Given the description of an element on the screen output the (x, y) to click on. 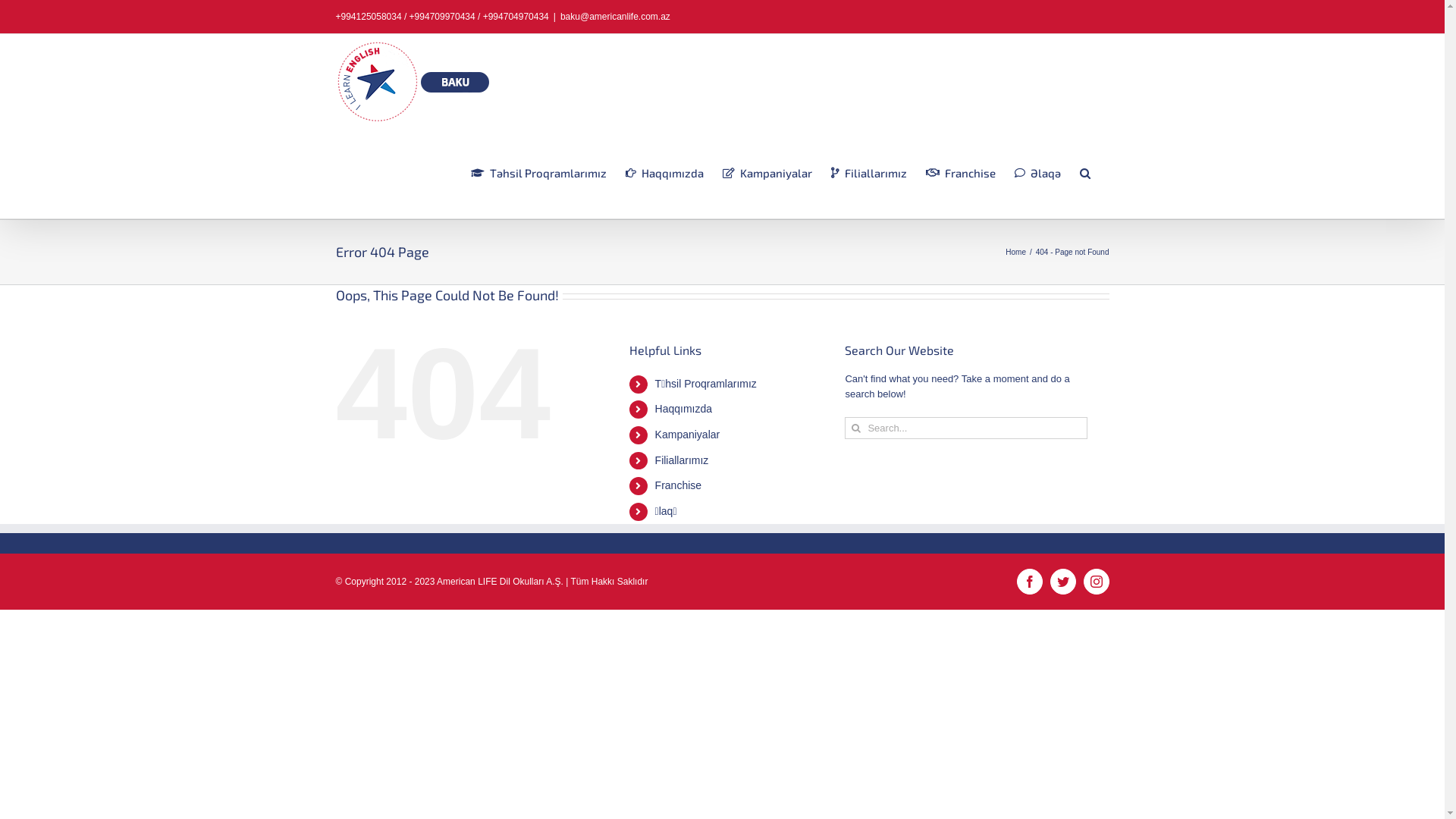
Kampaniyalar Element type: text (687, 434)
Instagram Element type: text (1095, 581)
Franchise Element type: text (959, 172)
Kampaniyalar Element type: text (766, 172)
Search Element type: hover (1084, 172)
Facebook Element type: text (1028, 581)
Franchise Element type: text (678, 485)
Twitter Element type: text (1062, 581)
Home Element type: text (1015, 251)
baku@americanlife.com.az Element type: text (615, 16)
